Given the description of an element on the screen output the (x, y) to click on. 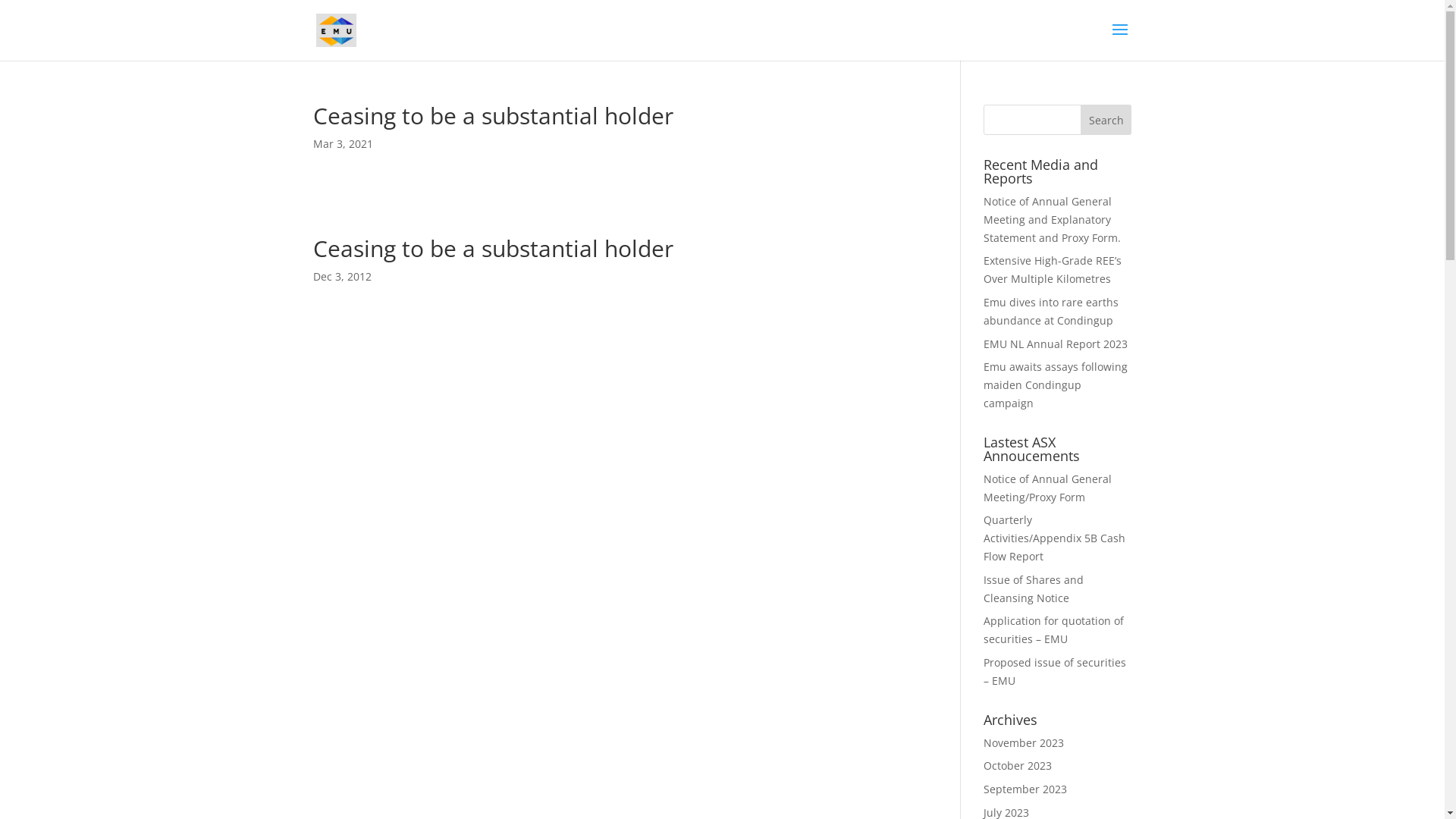
EMU NL Annual Report 2023 Element type: text (1055, 343)
Notice of Annual General Meeting/Proxy Form Element type: text (1047, 487)
Emu awaits assays following maiden Condingup campaign Element type: text (1055, 384)
Search Element type: text (1106, 119)
Quarterly Activities/Appendix 5B Cash Flow Report Element type: text (1054, 537)
September 2023 Element type: text (1024, 788)
November 2023 Element type: text (1023, 742)
Emu dives into rare earths abundance at Condingup Element type: text (1050, 310)
Issue of Shares and Cleansing Notice Element type: text (1033, 588)
October 2023 Element type: text (1017, 765)
